Given the description of an element on the screen output the (x, y) to click on. 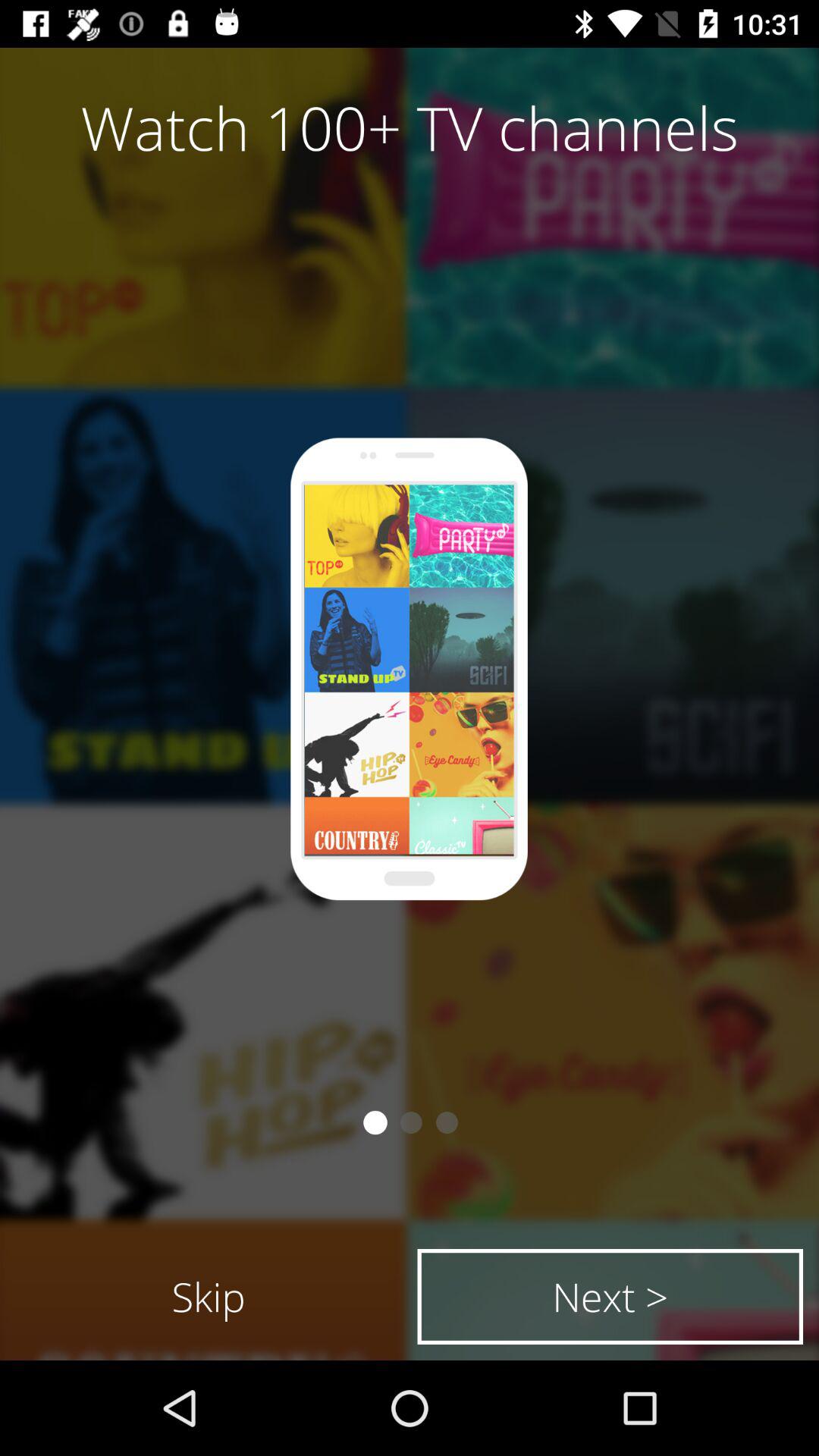
swipe until next > (610, 1296)
